Given the description of an element on the screen output the (x, y) to click on. 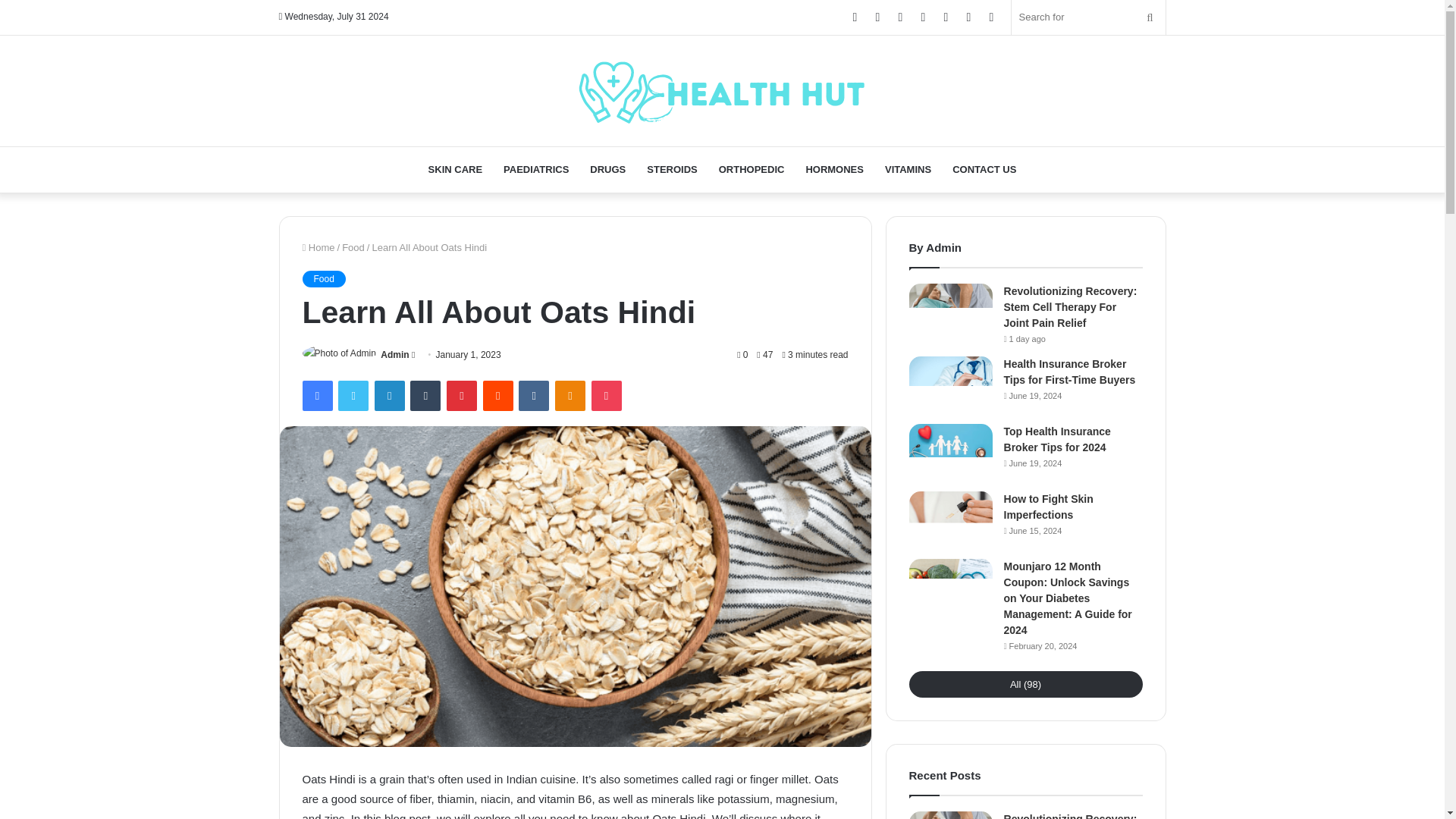
Search for (1088, 17)
HORMONES (834, 169)
eHealth Hut (722, 89)
Tumblr (425, 395)
Tumblr (425, 395)
Facebook (316, 395)
Twitter (352, 395)
Pocket (606, 395)
LinkedIn (389, 395)
PAEDIATRICS (536, 169)
VKontakte (533, 395)
LinkedIn (389, 395)
Food (353, 246)
Twitter (352, 395)
Facebook (316, 395)
